Given the description of an element on the screen output the (x, y) to click on. 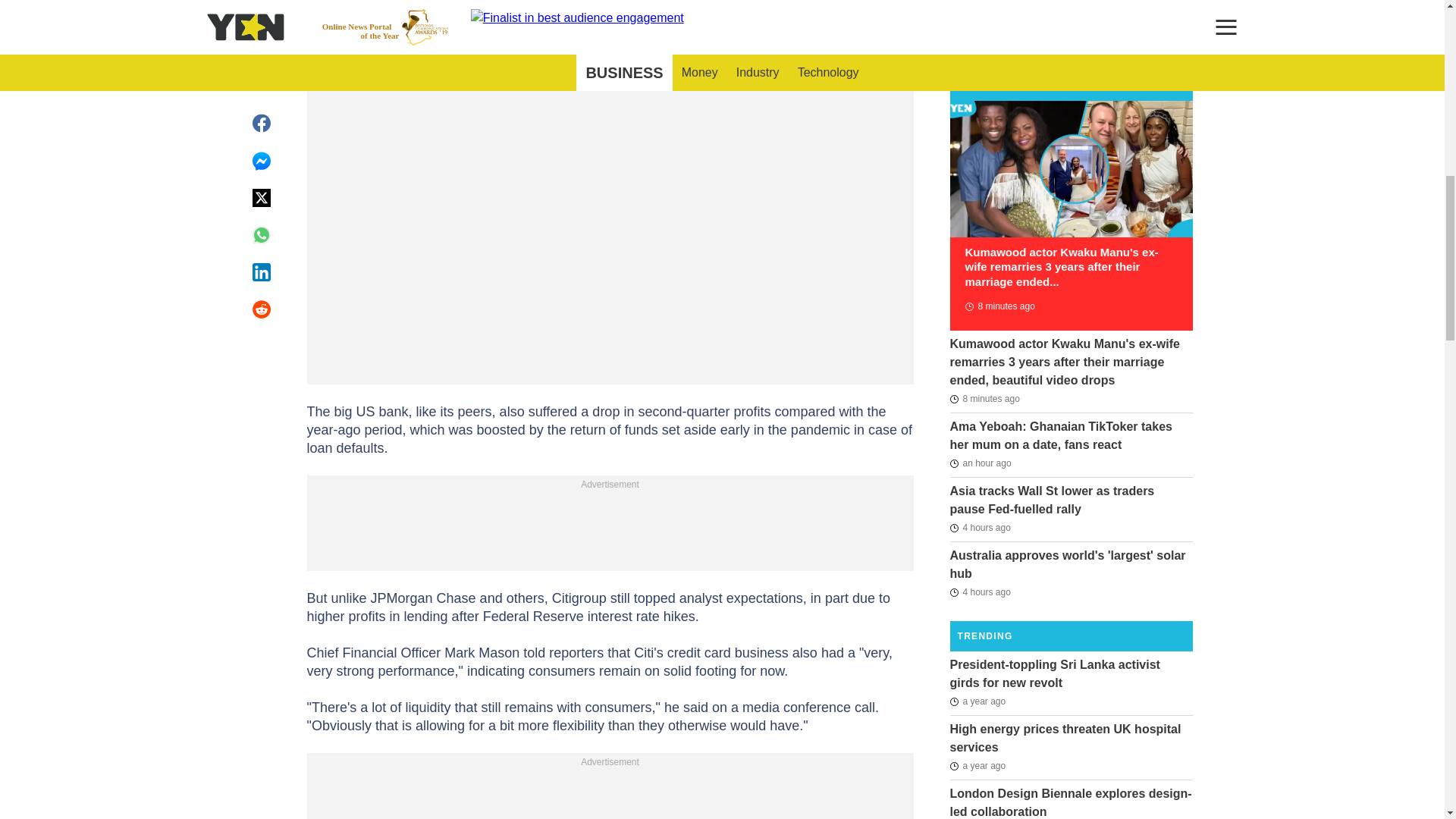
2024-08-21T02:55:04Z (979, 527)
2022-09-01T00:05:07Z (977, 765)
2024-08-21T06:55:49Z (984, 398)
2024-08-21T05:59:58Z (979, 463)
2024-08-21T02:49:03Z (979, 592)
2023-07-06T03:48:05Z (977, 701)
2024-08-21T06:55:49Z (998, 306)
